Given the description of an element on the screen output the (x, y) to click on. 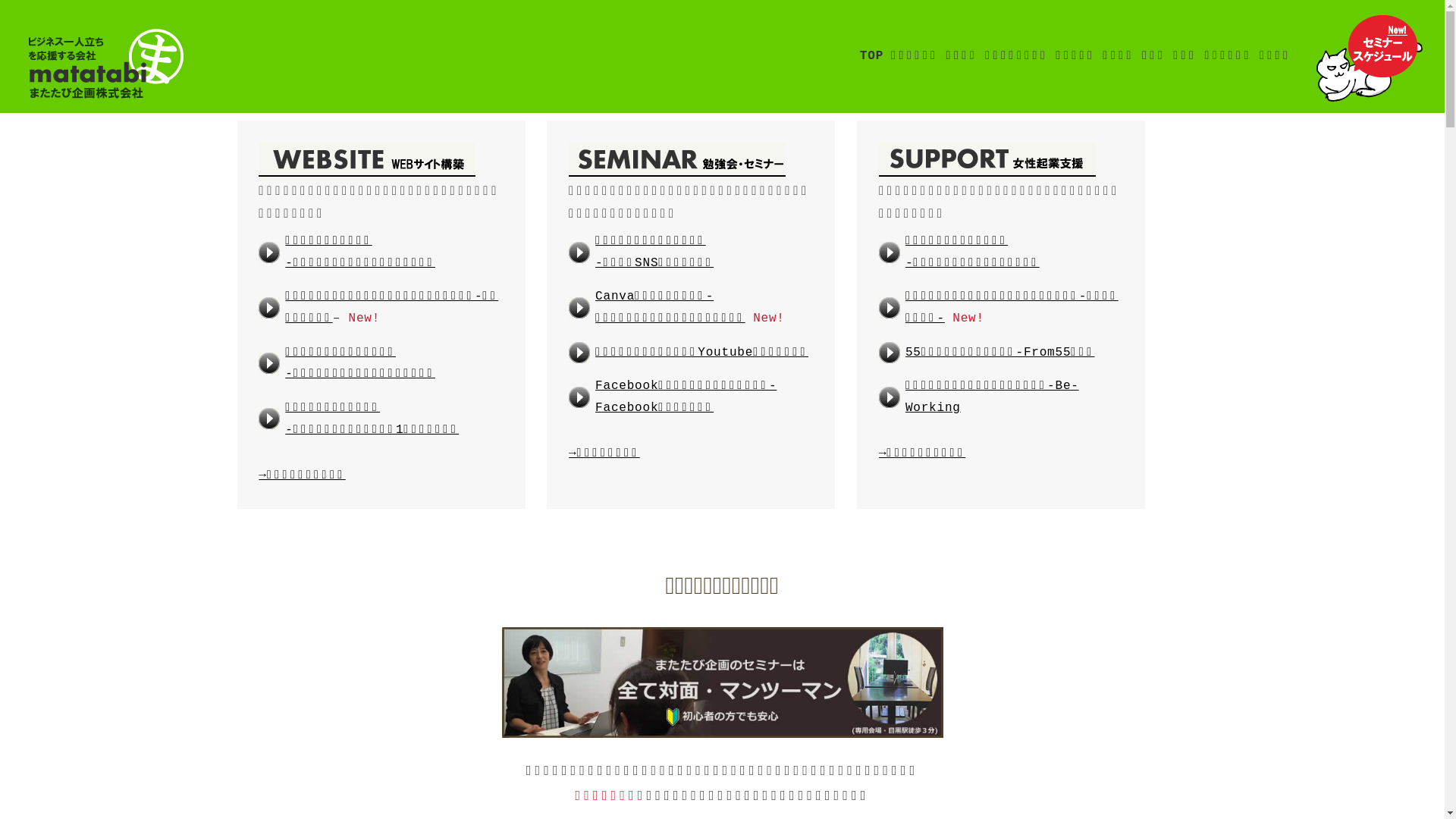
TOP Element type: text (871, 56)
